Given the description of an element on the screen output the (x, y) to click on. 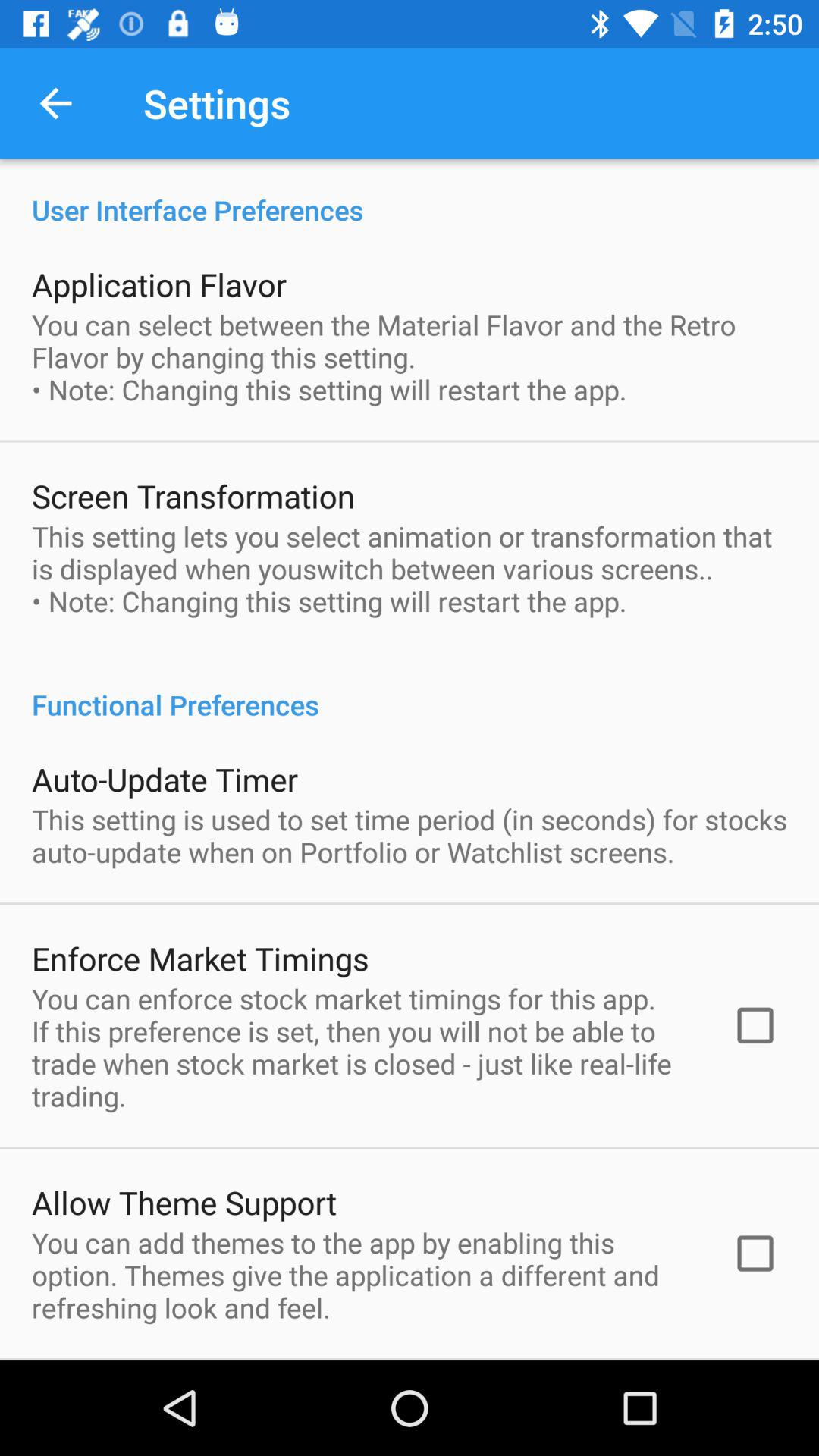
choose the item next to settings  icon (55, 103)
